Given the description of an element on the screen output the (x, y) to click on. 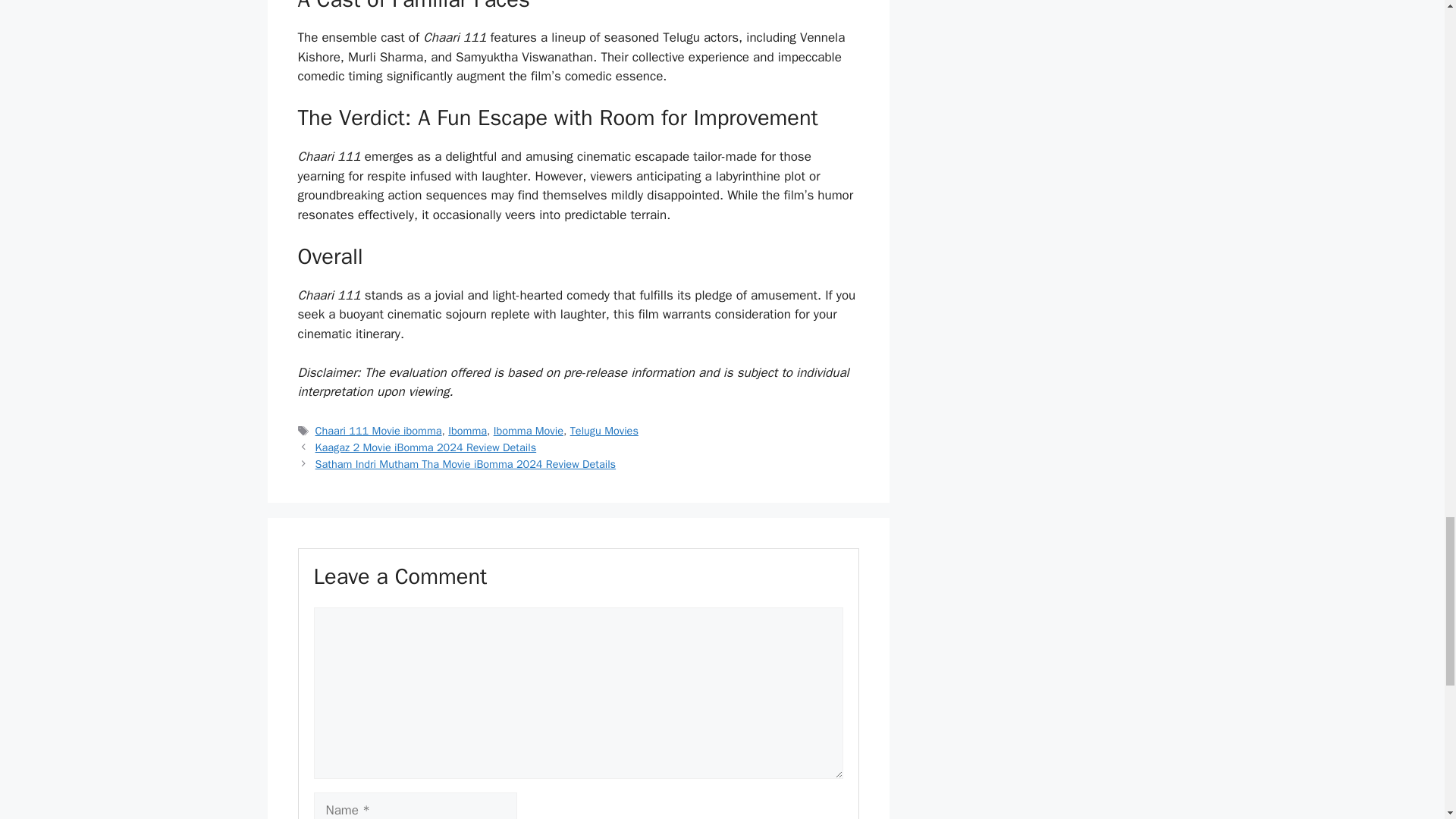
Ibomma (467, 430)
Ibomma Movie (528, 430)
Telugu Movies (604, 430)
Chaari 111 Movie ibomma (378, 430)
Kaagaz 2 Movie iBomma 2024 Review Details (426, 447)
Satham Indri Mutham Tha Movie iBomma 2024 Review Details (465, 463)
